Given the description of an element on the screen output the (x, y) to click on. 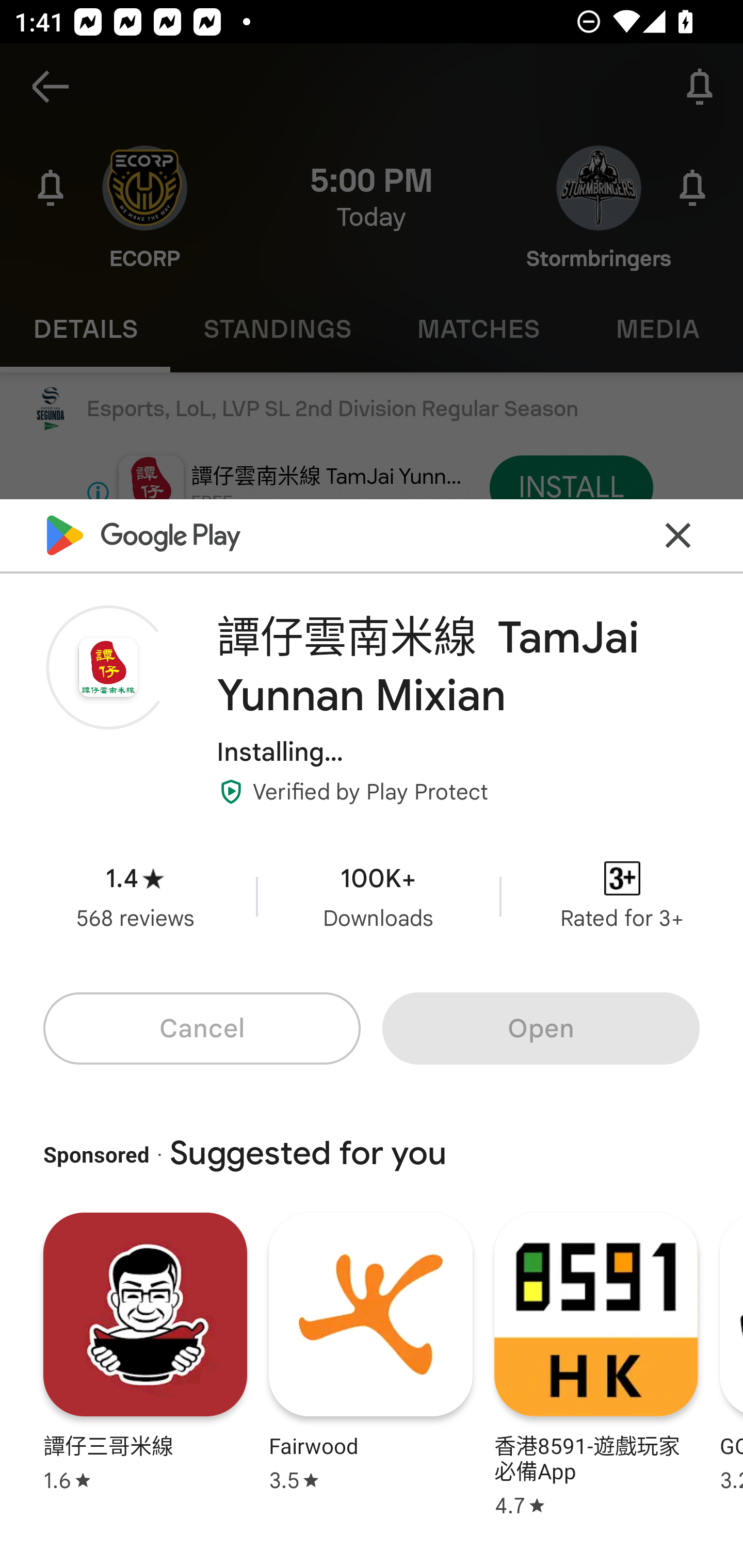
Close (677, 534)
App: 譚仔三哥米線
Star rating: 1.6


 (144, 1362)
App: Fairwood
Star rating: 3.5


 (370, 1362)
App: 香港8591-遊戲玩家必備App
Star rating: 4.7


 (595, 1362)
